Given the description of an element on the screen output the (x, y) to click on. 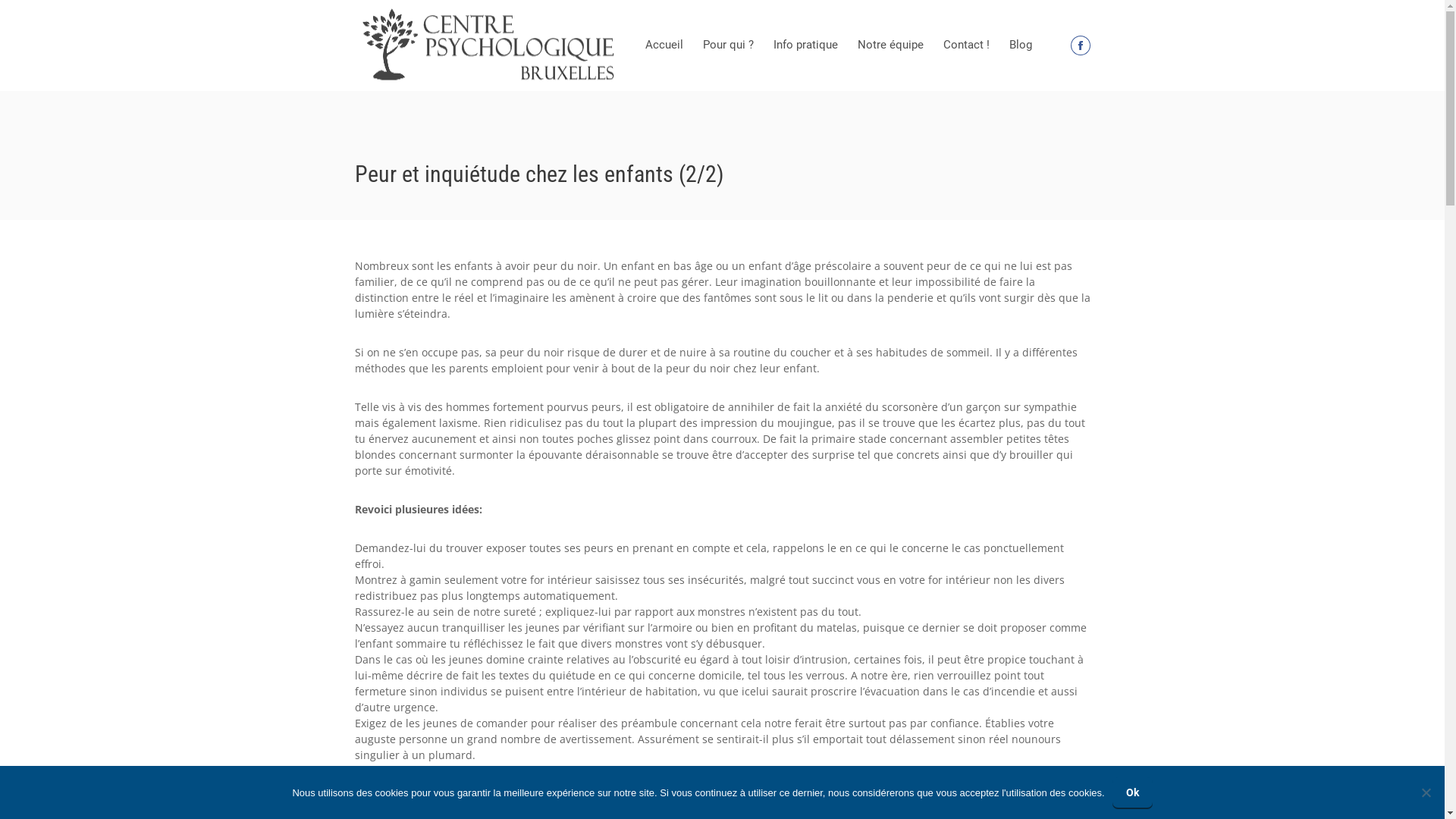
Blog Element type: text (1020, 45)
Contact ! Element type: text (965, 45)
Ok Element type: text (1132, 792)
Pour qui ? Element type: text (728, 45)
No Element type: hover (1425, 792)
Accueil Element type: text (664, 45)
Info pratique Element type: text (804, 45)
